Given the description of an element on the screen output the (x, y) to click on. 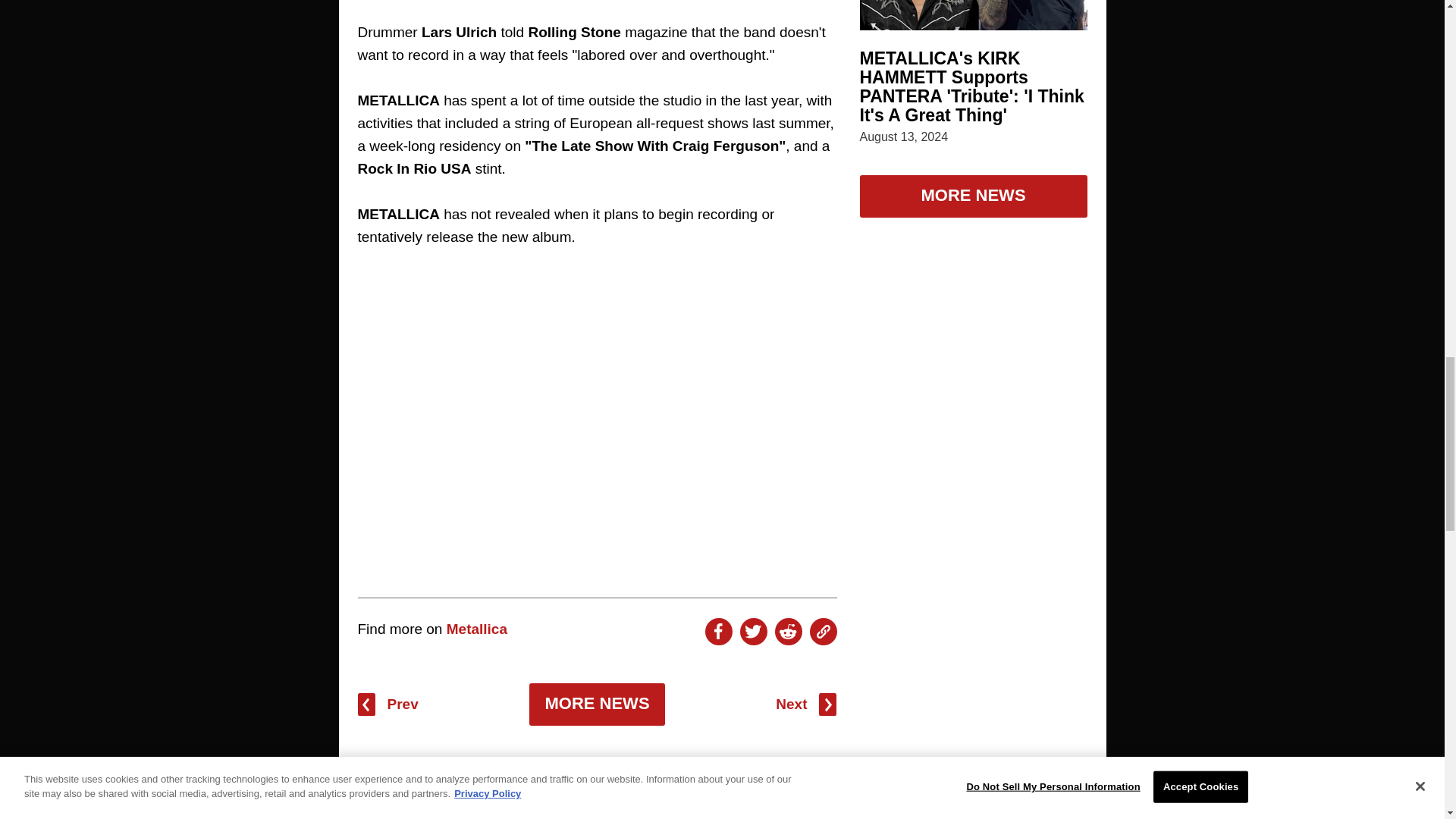
Next (805, 703)
Copy To Clipboard (823, 631)
Share On Reddit (788, 631)
Metallica (476, 628)
Share On Twitter (753, 631)
Prev (388, 703)
Share On Facebook (718, 631)
MORE NEWS (596, 704)
